Given the description of an element on the screen output the (x, y) to click on. 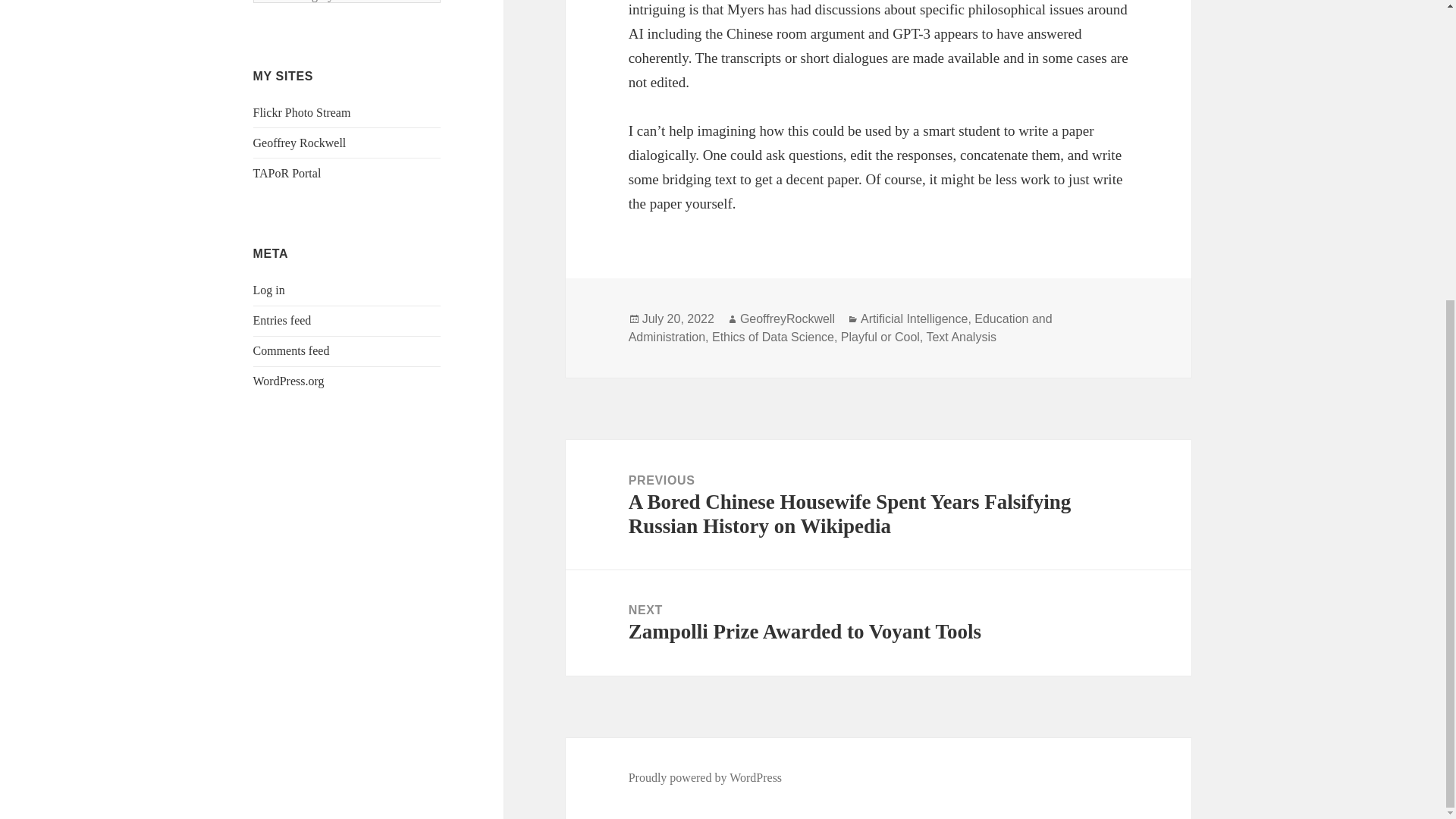
Geoffrey Rockwell (299, 142)
Artificial Intelligence (914, 318)
Text Analysis (960, 336)
Ethics of Data Science (878, 622)
Flickr Photo Stream (772, 336)
Entries feed (301, 112)
TAPoR Portal (282, 319)
Playful or Cool (287, 173)
